Given the description of an element on the screen output the (x, y) to click on. 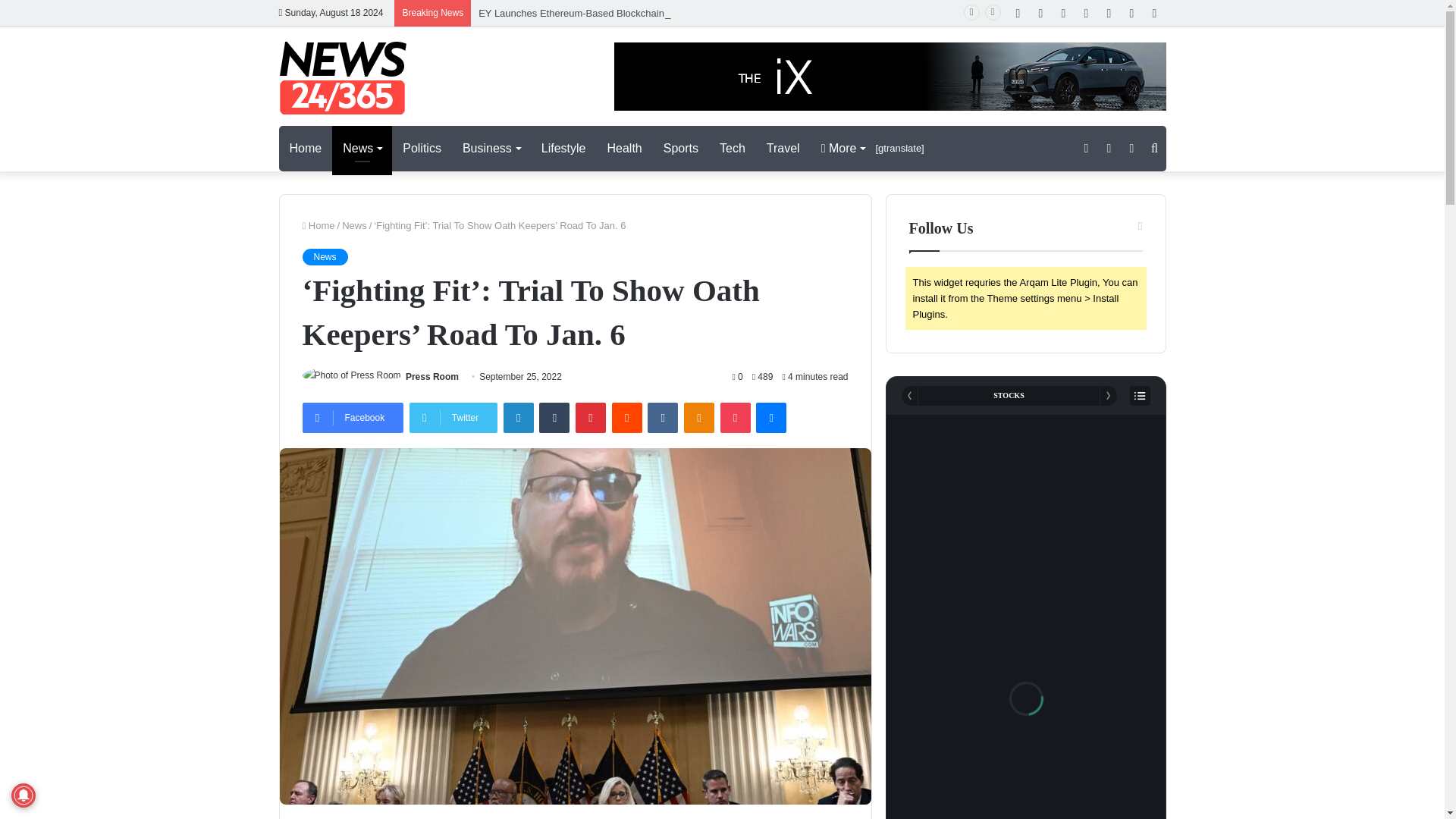
Odnoklassniki (699, 417)
Health (624, 148)
Tech (732, 148)
Lifestyle (563, 148)
Politics (421, 148)
Home (306, 148)
Reddit (626, 417)
EY Launches Ethereum-Based Blockchain Tool for Agreements (616, 12)
News (361, 148)
LinkedIn (518, 417)
